Given the description of an element on the screen output the (x, y) to click on. 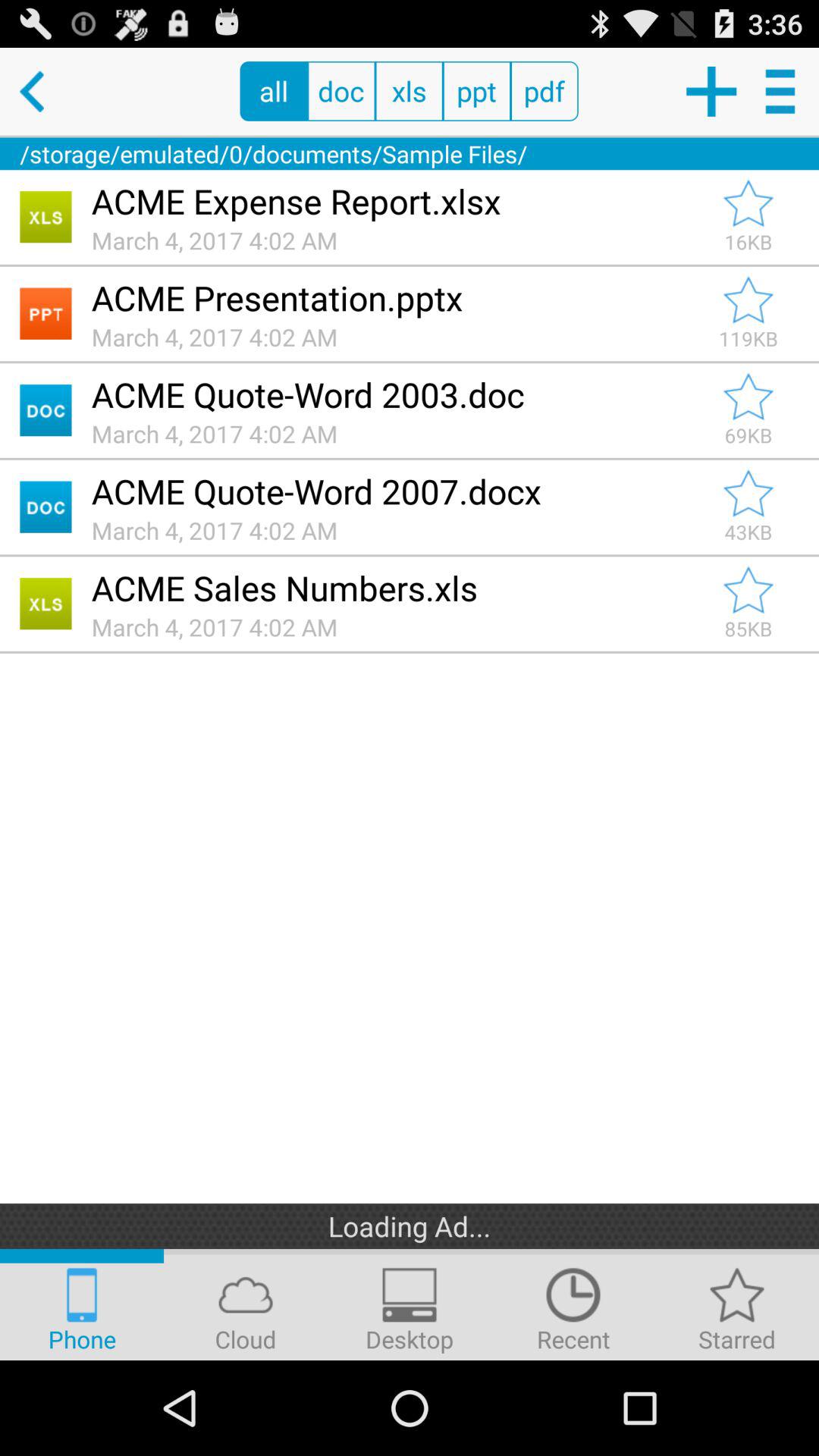
favorite file (748, 493)
